Given the description of an element on the screen output the (x, y) to click on. 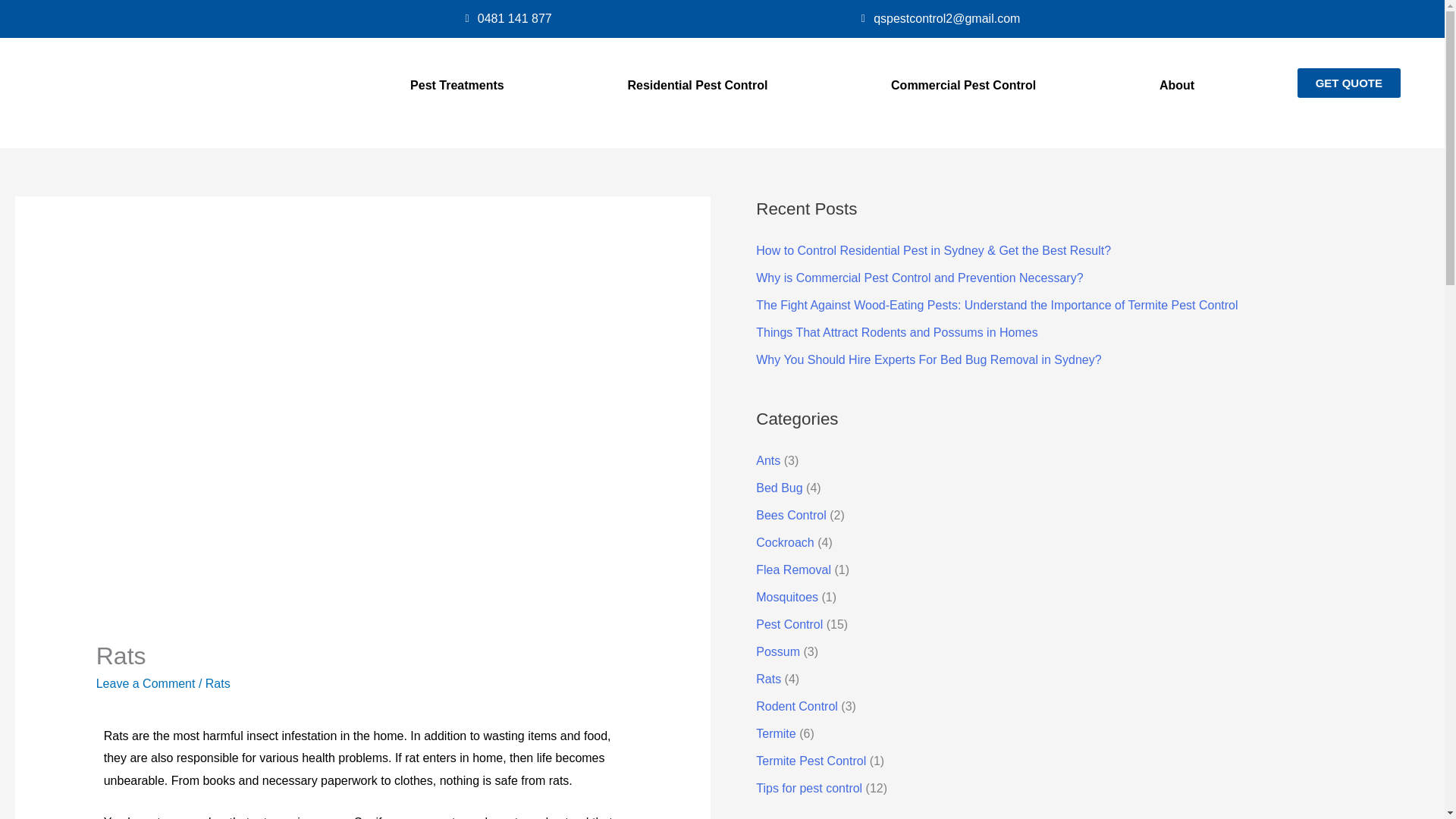
Pest Treatments (457, 85)
Rats (217, 683)
Home (285, 85)
Residential Pest Control (697, 85)
About (1176, 85)
Commercial Pest Control (963, 85)
Leave a Comment (145, 683)
GET QUOTE (1348, 82)
0481 141 877 (505, 18)
